Given the description of an element on the screen output the (x, y) to click on. 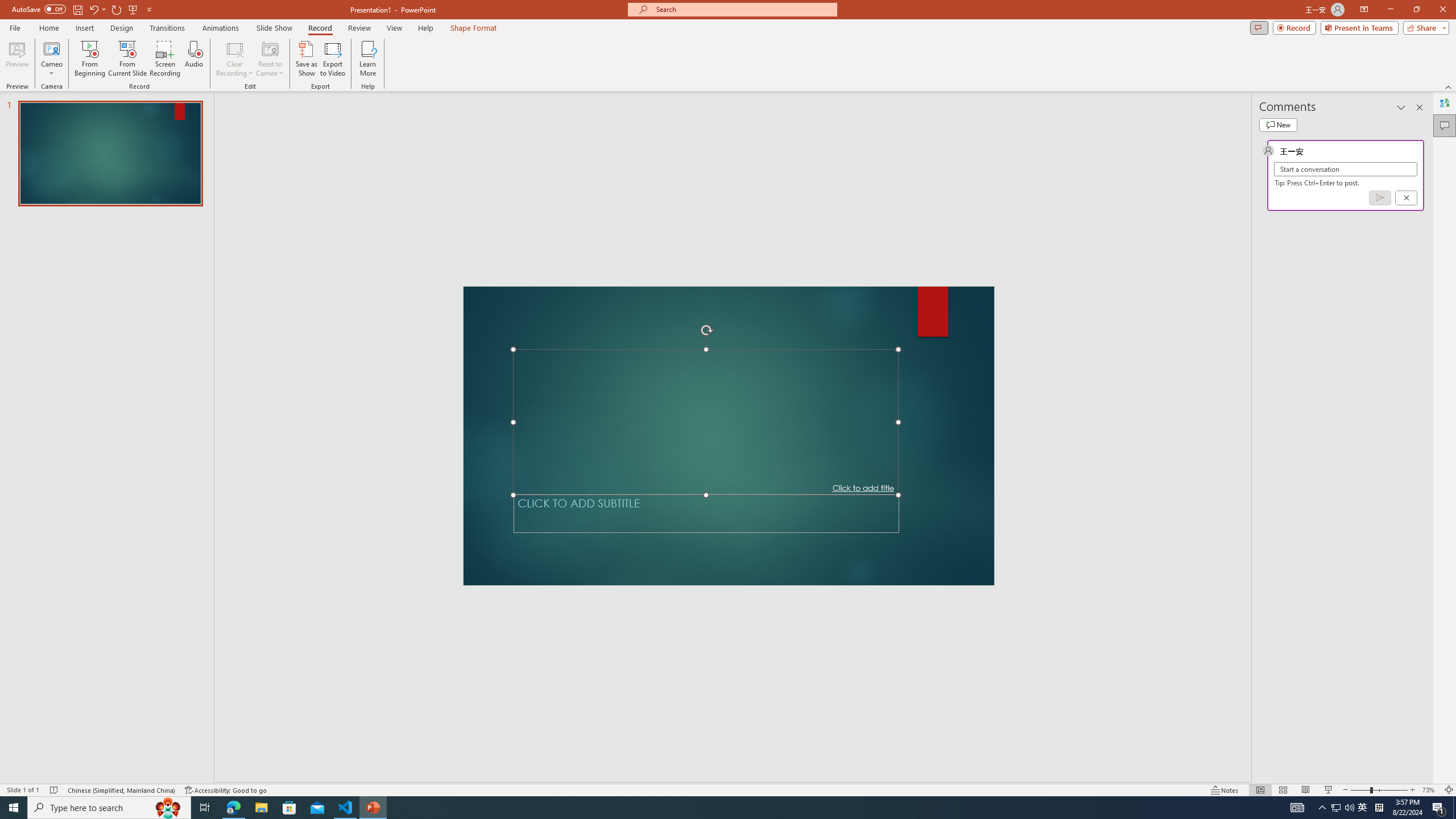
OK (724, 442)
Help (708, 47)
Many pages: (807, 352)
Split (695, 92)
New Window (613, 92)
Properties (1010, 92)
File Tab (25, 47)
Page width (729, 352)
Zoom Out (1334, 773)
Spelling and Grammar Check No Errors (63, 773)
